Given the description of an element on the screen output the (x, y) to click on. 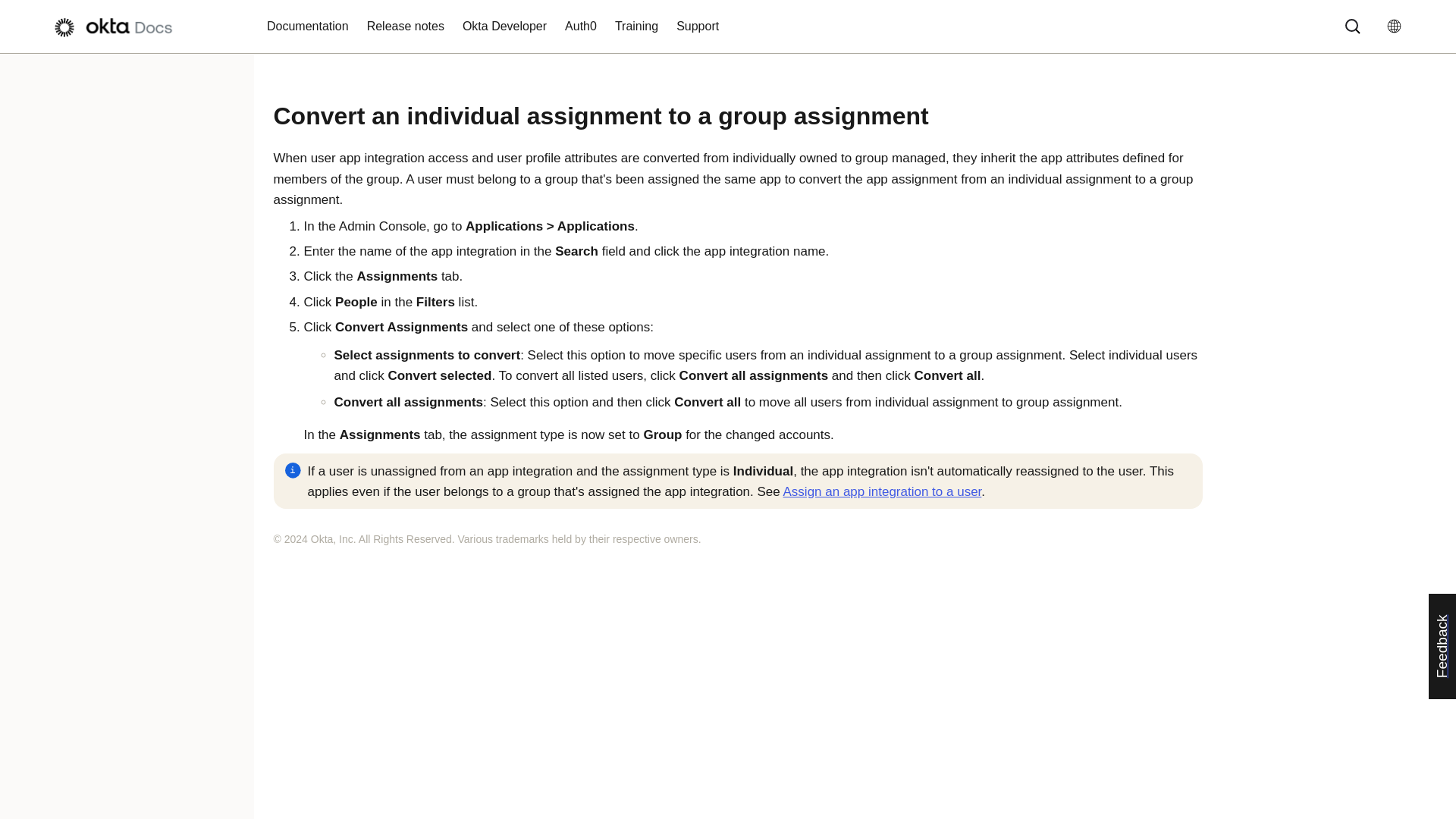
Change language (1398, 26)
Okta Developer (504, 26)
Documentation (307, 26)
Auth0 (580, 26)
Okta Docs (120, 27)
Assign an app integration to a user (882, 491)
Training (635, 26)
Support (697, 26)
Label: Okta Classic Engine content (1359, 27)
Release notes (405, 26)
